Given the description of an element on the screen output the (x, y) to click on. 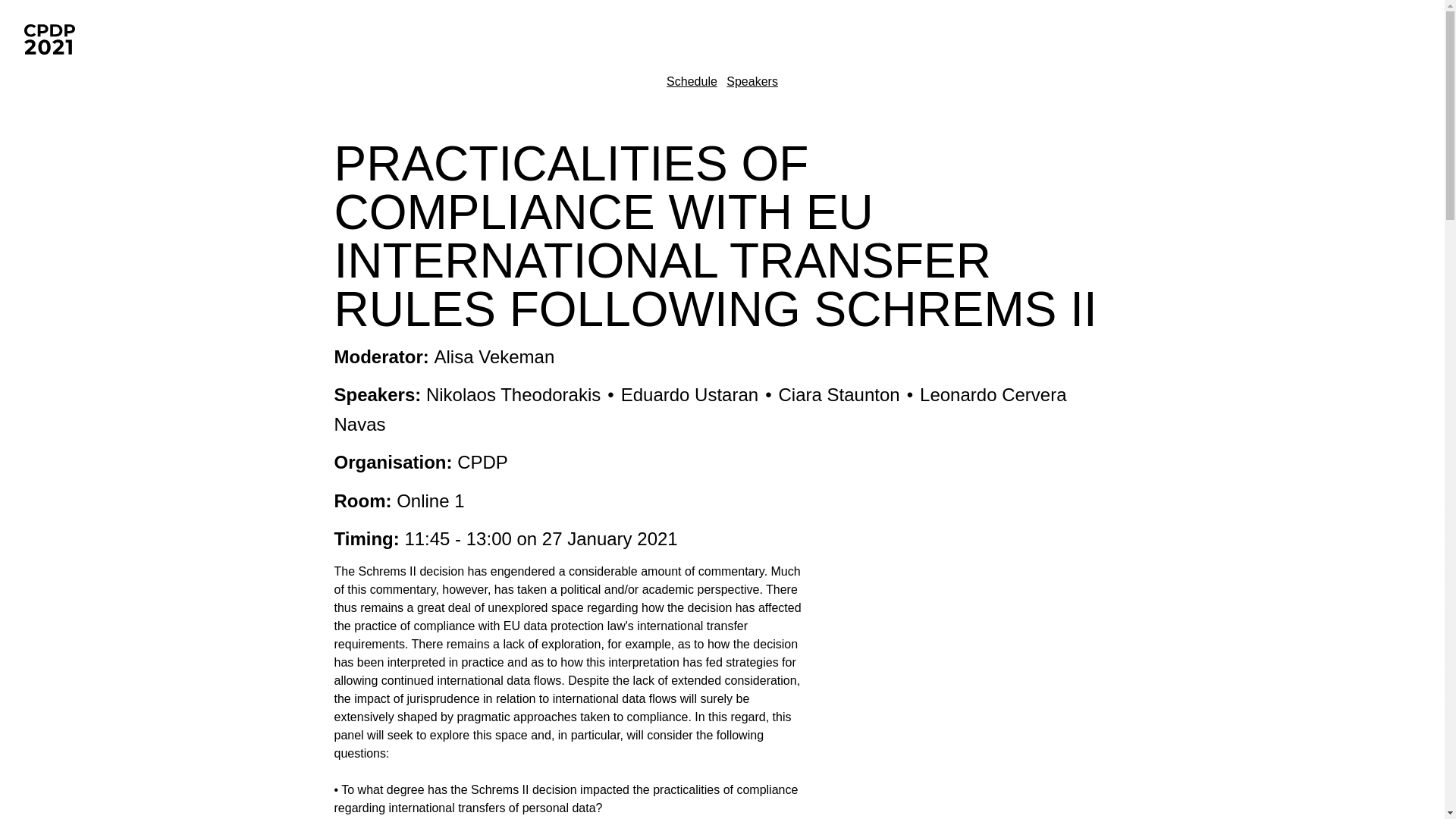
CPDP 2021 (66, 39)
Speakers (751, 81)
Schedule (691, 81)
